Given the description of an element on the screen output the (x, y) to click on. 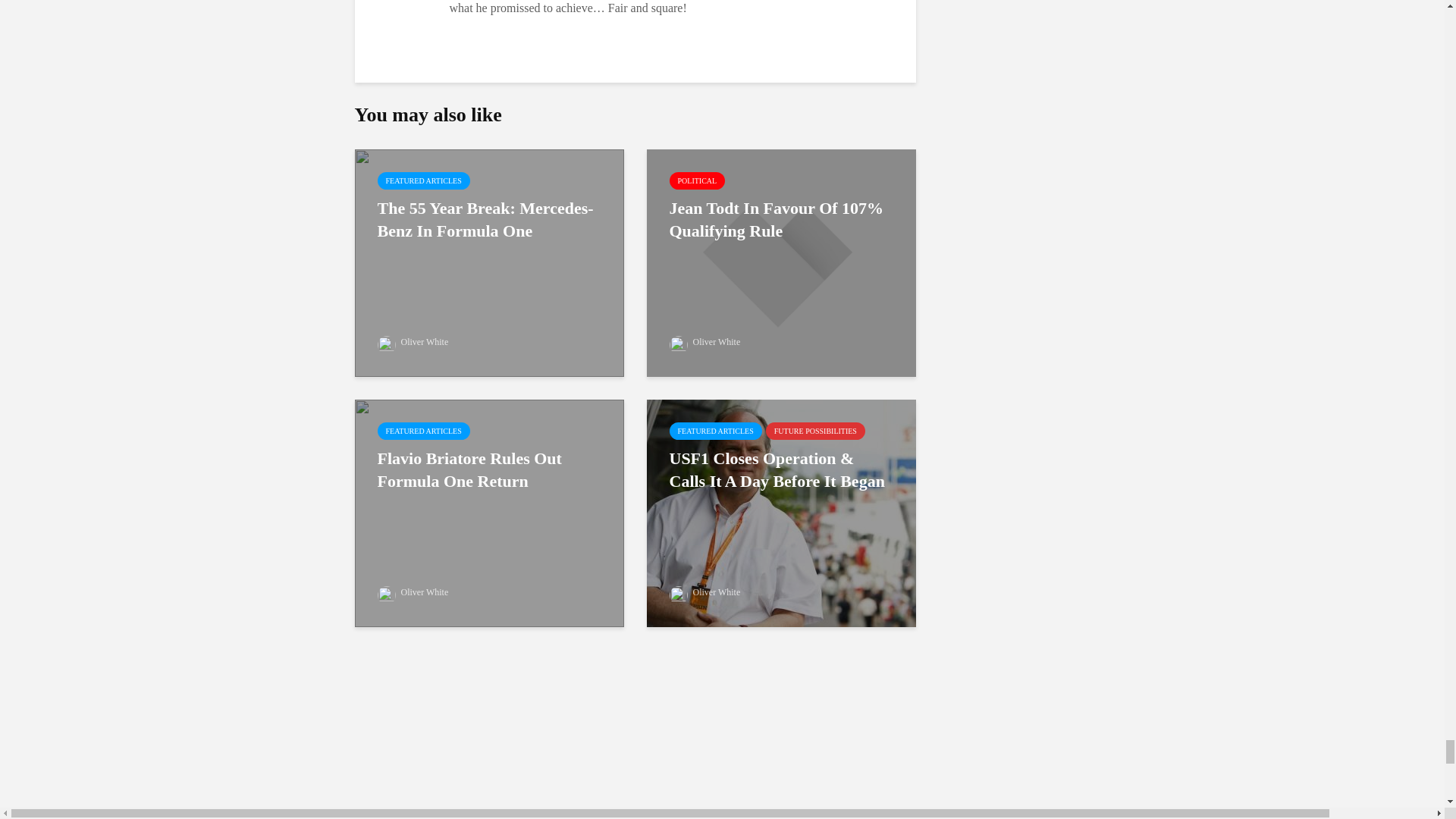
The 55 Year Break: Mercedes-Benz In Formula One (489, 260)
Flavio Briatore Rules Out Formula One Return (489, 511)
